Given the description of an element on the screen output the (x, y) to click on. 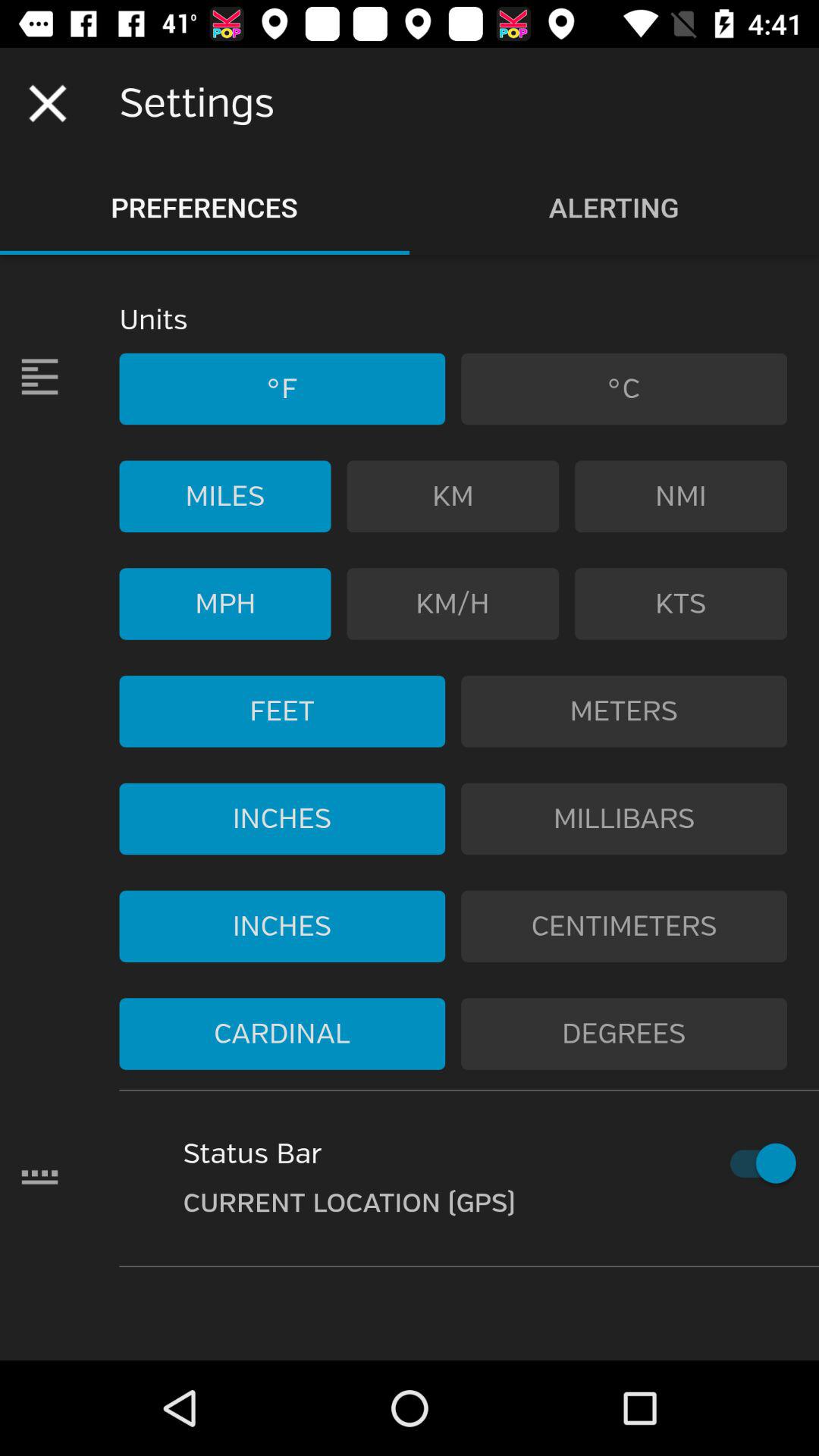
click item next to the feet (624, 711)
